Given the description of an element on the screen output the (x, y) to click on. 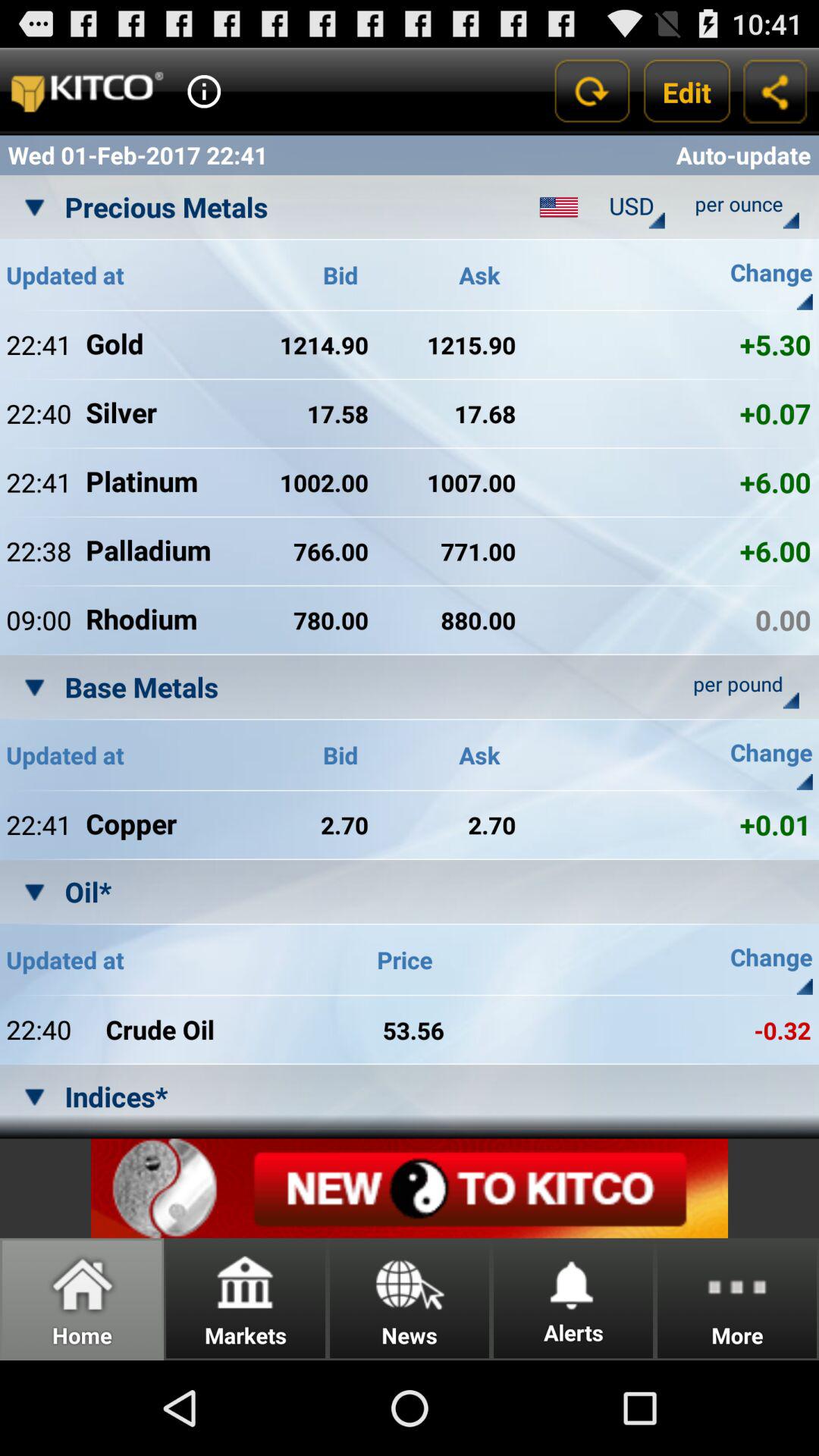
select the icon above the wed 01 feb app (204, 91)
